Given the description of an element on the screen output the (x, y) to click on. 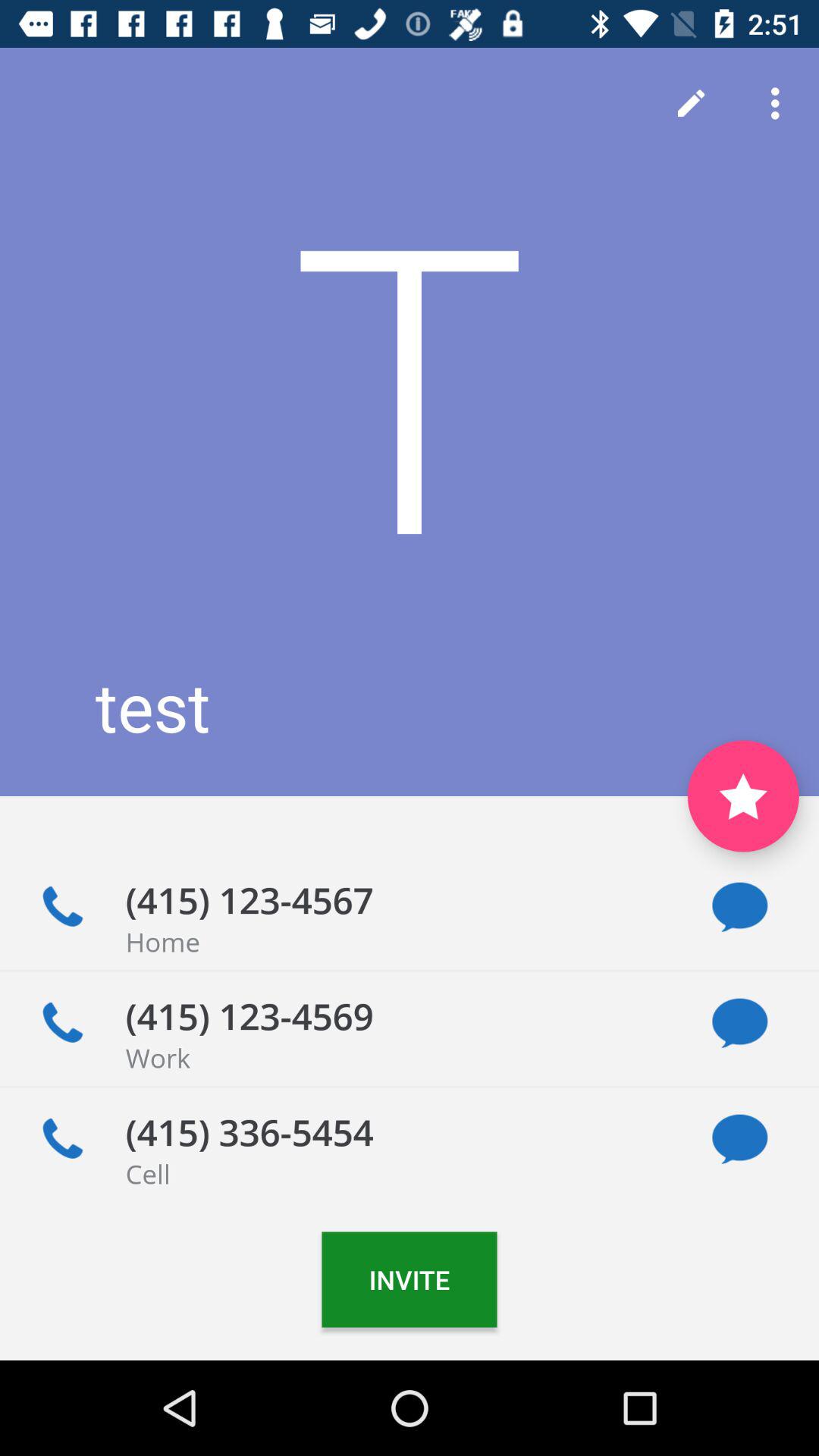
click to message option (739, 1139)
